Given the description of an element on the screen output the (x, y) to click on. 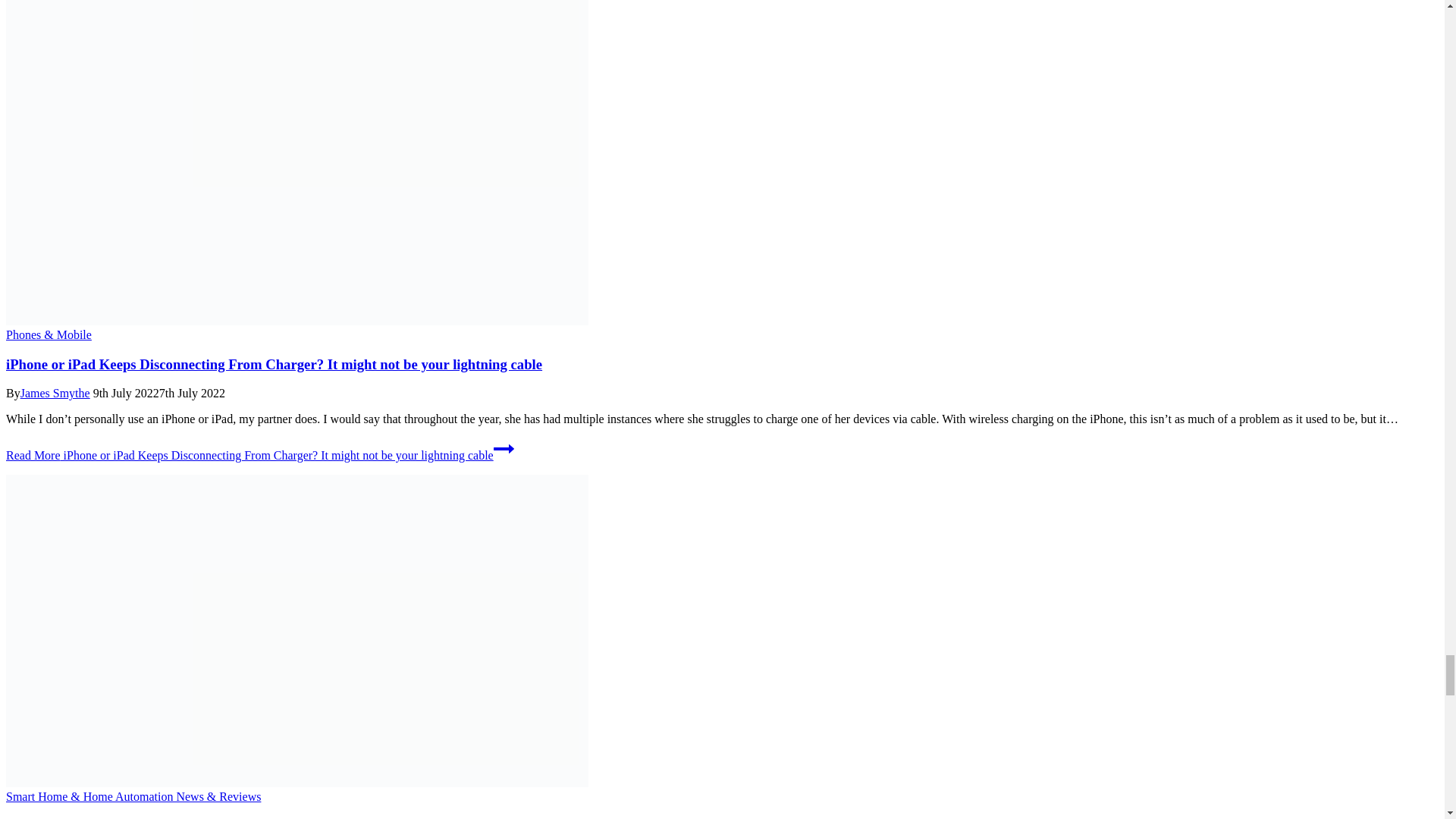
Continue (503, 448)
